Given the description of an element on the screen output the (x, y) to click on. 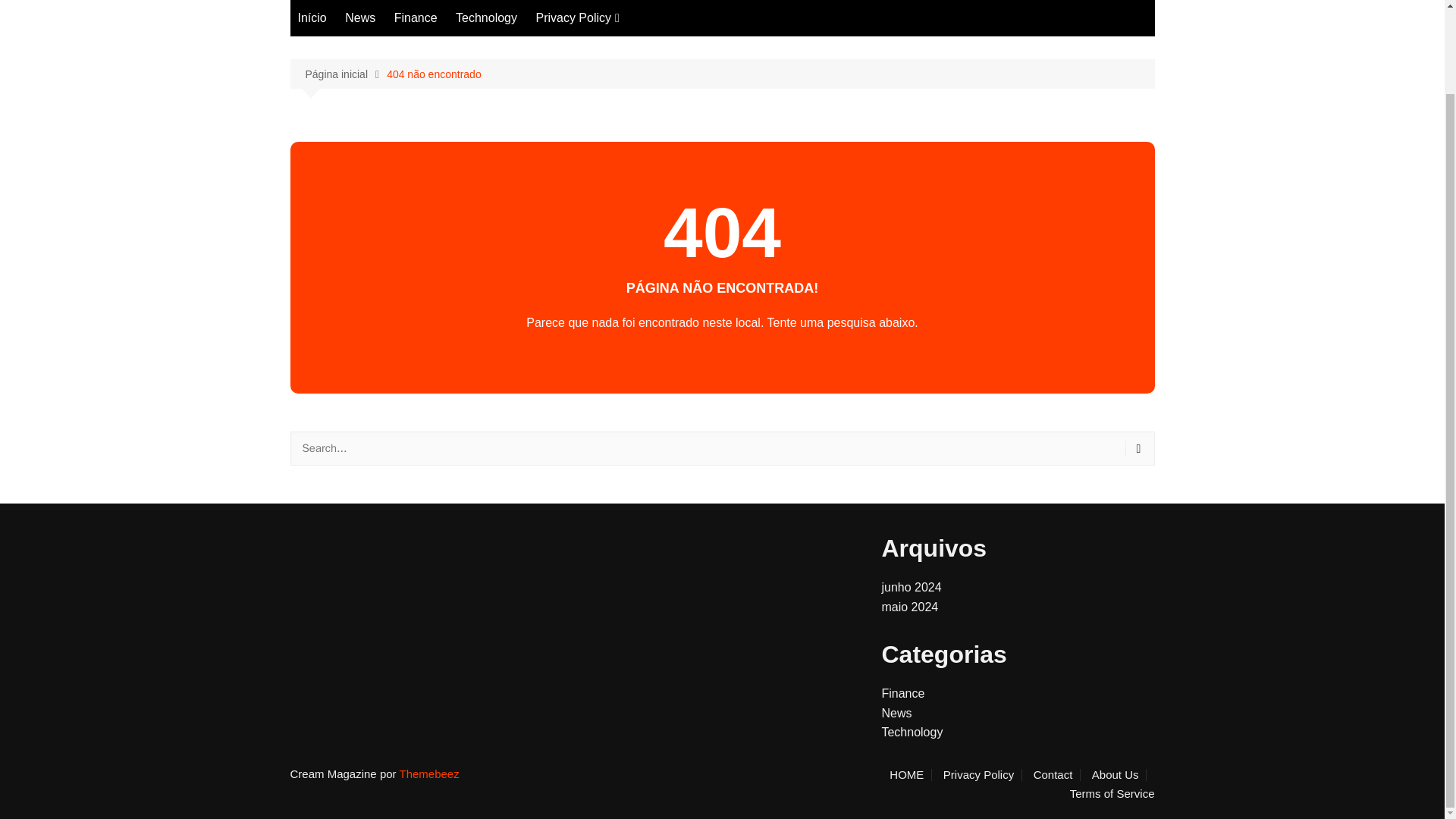
Privacy Policy (576, 18)
News (895, 712)
Contact (1057, 775)
Themebeez (428, 773)
Privacy Policy (982, 775)
News (359, 18)
junho 2024 (910, 586)
Technology (486, 18)
maio 2024 (908, 606)
About Us (1119, 775)
HOME (910, 775)
Finance (416, 18)
Finance (902, 693)
About Us (610, 73)
Contact (610, 48)
